Given the description of an element on the screen output the (x, y) to click on. 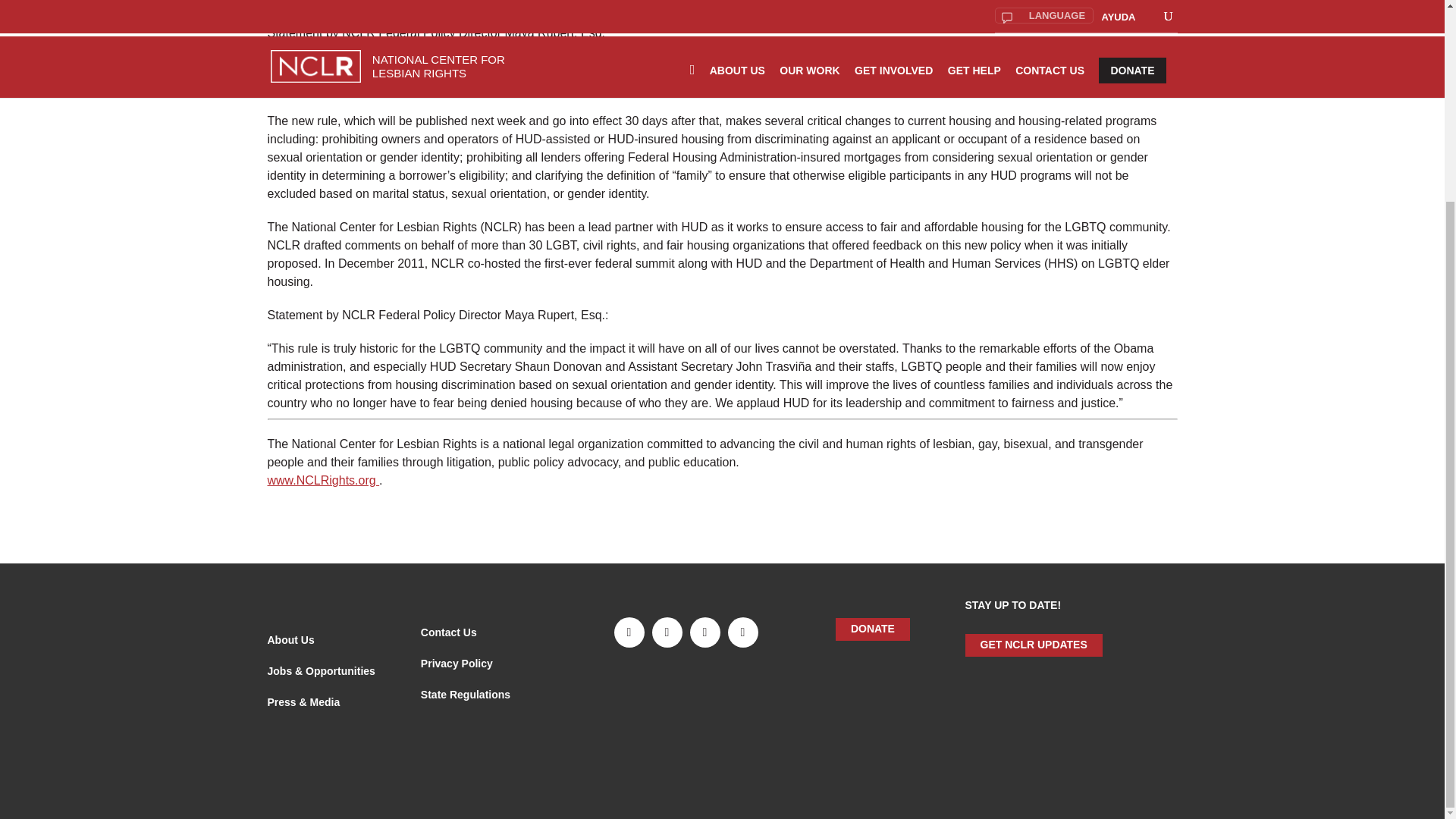
Link will open in a new tab or window (320, 671)
www.NCLRights.org  (322, 480)
